Given the description of an element on the screen output the (x, y) to click on. 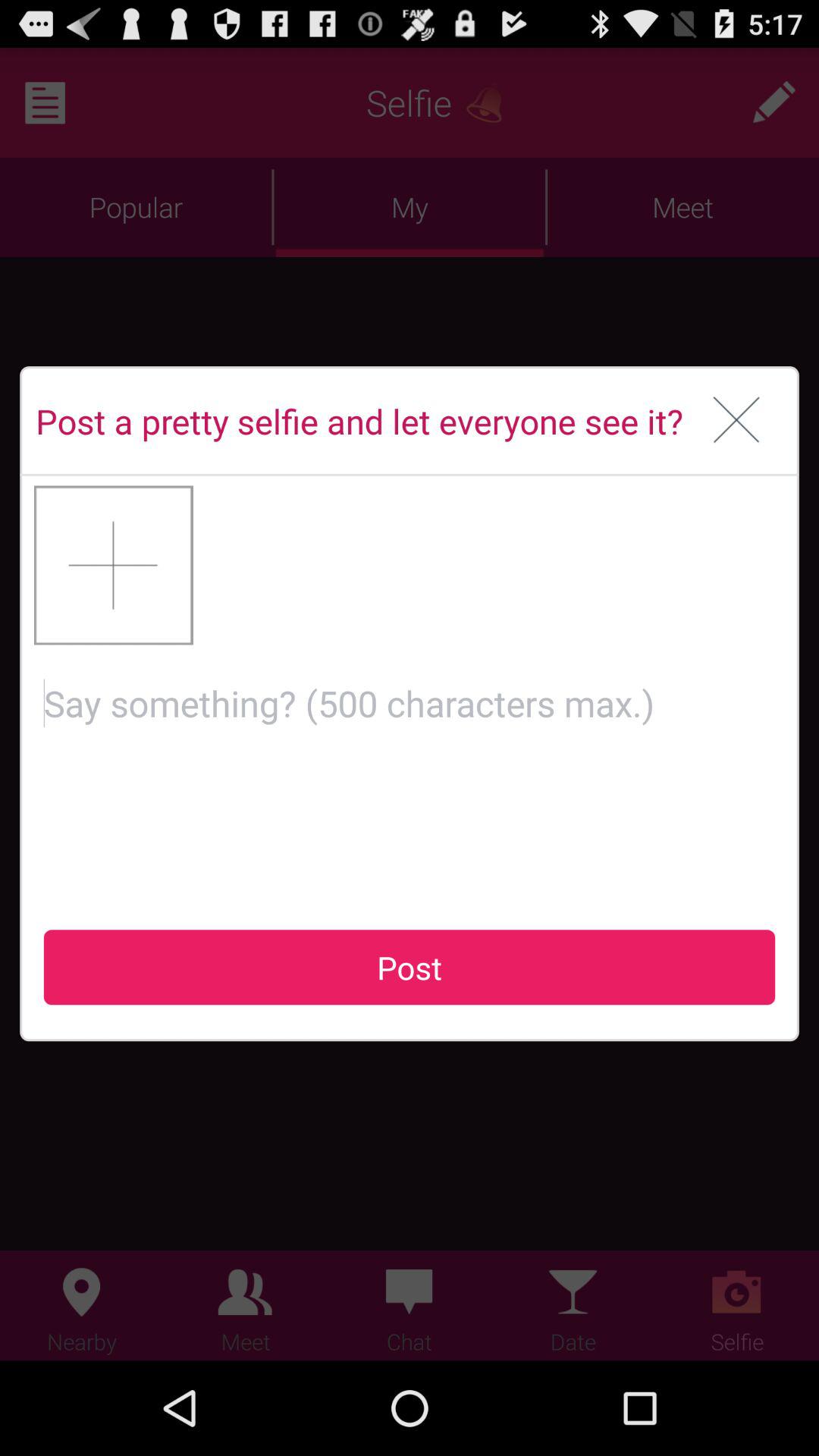
go to post (409, 774)
